Given the description of an element on the screen output the (x, y) to click on. 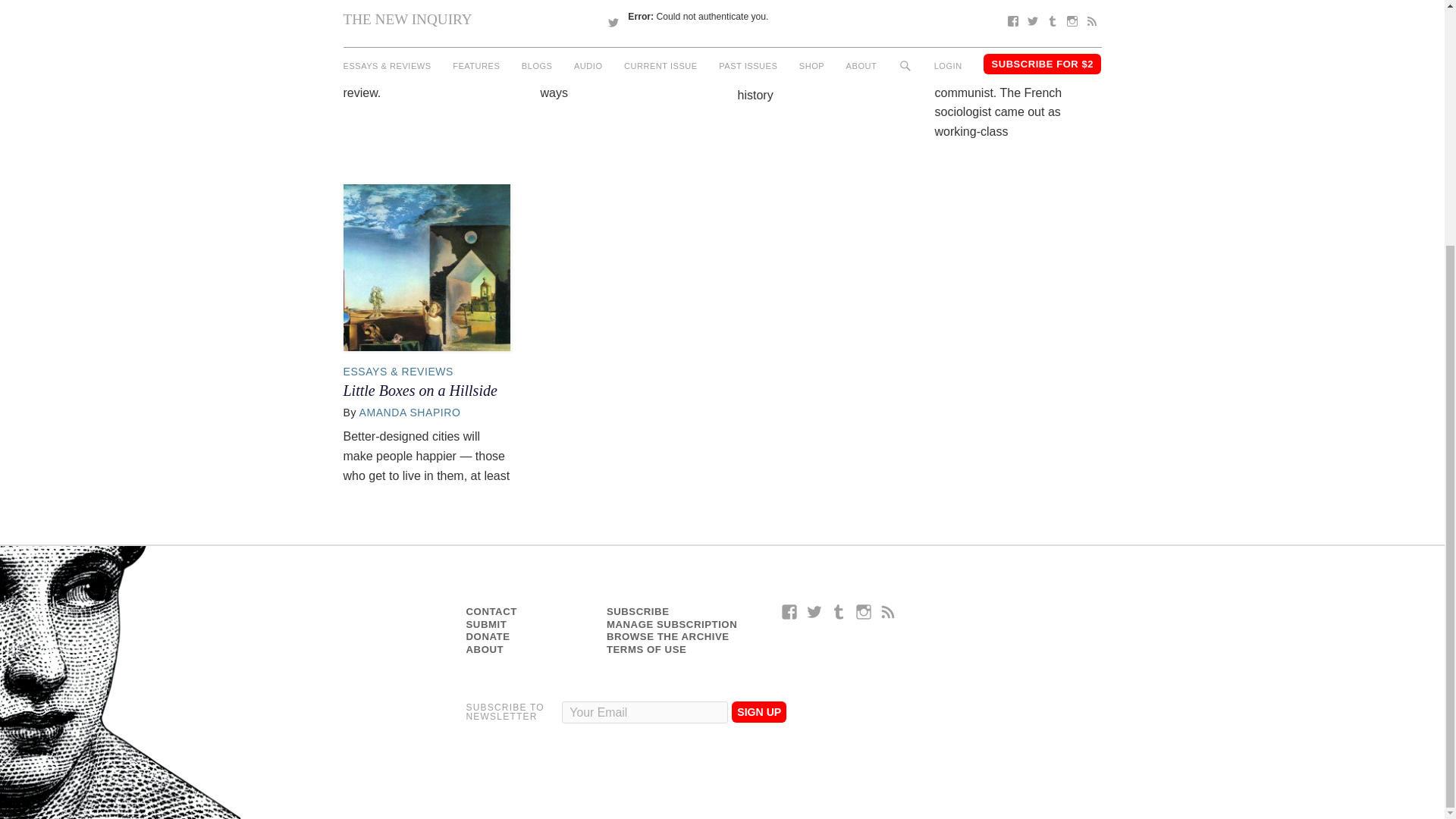
Posts by Amanda Shapiro (410, 412)
COREY EASTWOOD (610, 10)
Posts by Corey Eastwood (610, 10)
Posts by Tom Slee (387, 10)
Posts by Tim Barker (788, 31)
TOM SLEE (387, 10)
Posts by Michael Andrews (1005, 10)
Sign up (759, 711)
MICHAEL ANDREWS (1005, 10)
Some of This Actually Happened (802, 9)
TIM BARKER (788, 31)
